Given the description of an element on the screen output the (x, y) to click on. 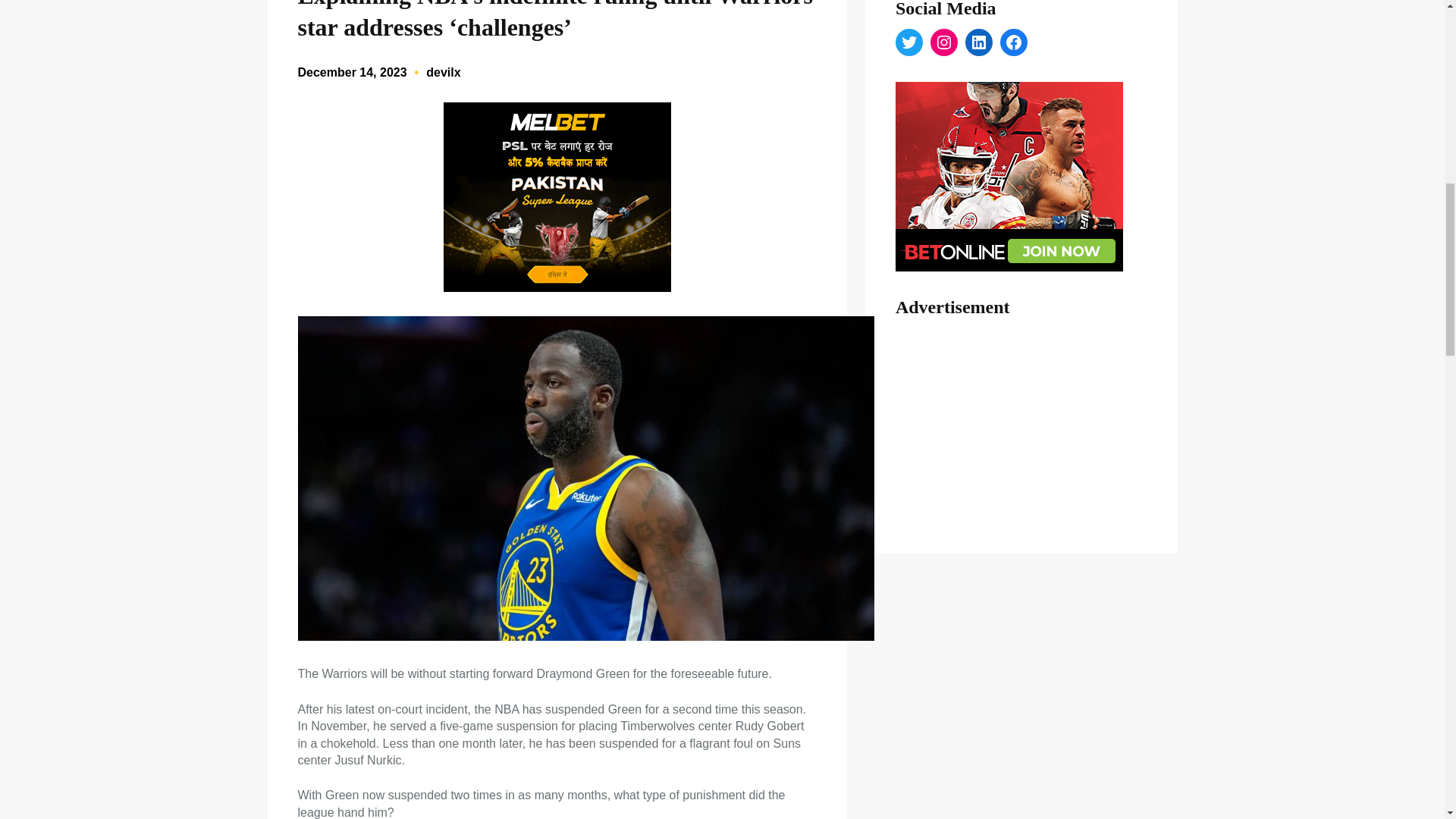
LinkedIn (978, 42)
Instagram (944, 42)
Twitter (909, 42)
Facebook (1013, 42)
devilx (443, 72)
